Given the description of an element on the screen output the (x, y) to click on. 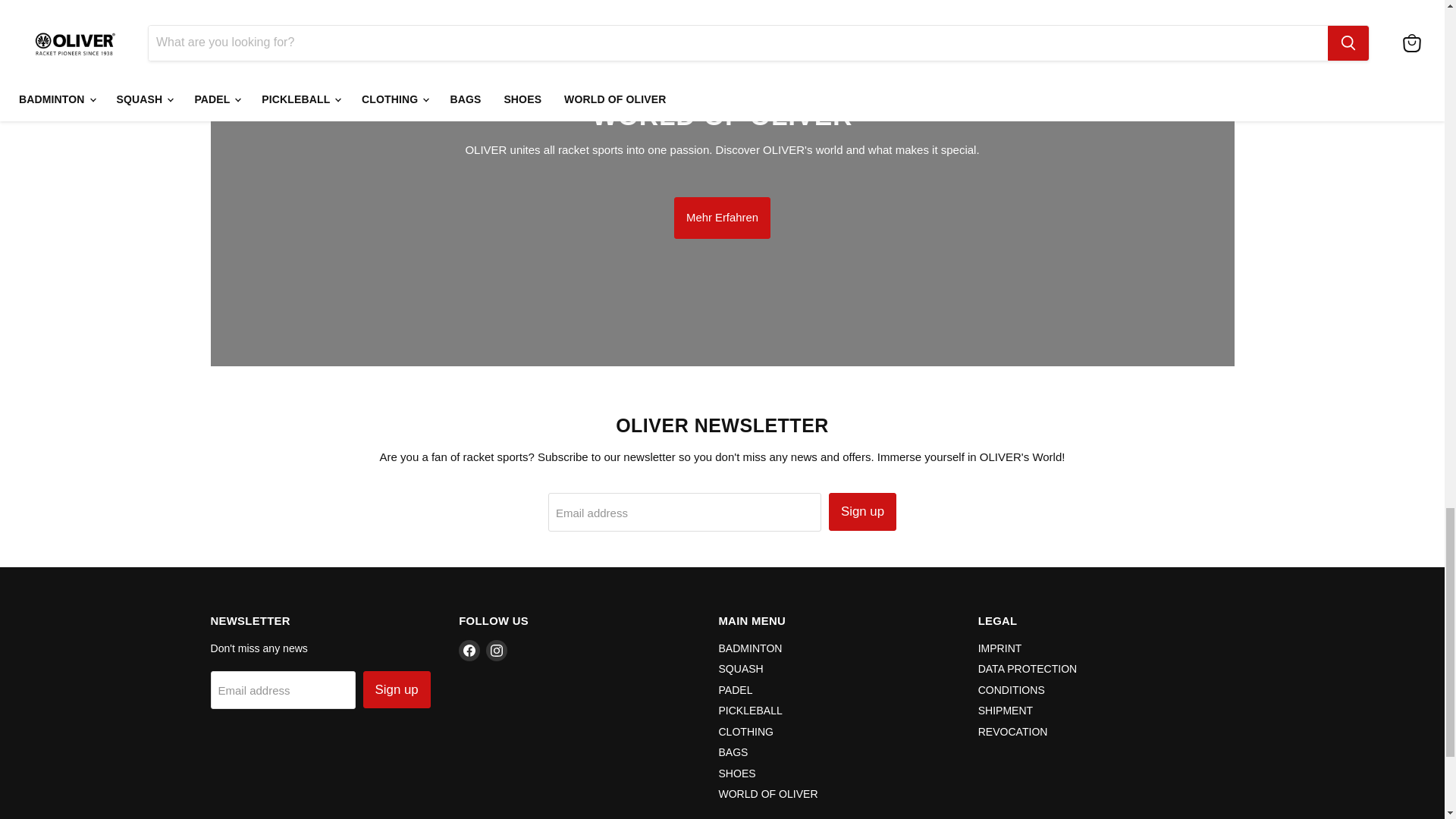
Facebook (469, 649)
Instagram (496, 649)
